Given the description of an element on the screen output the (x, y) to click on. 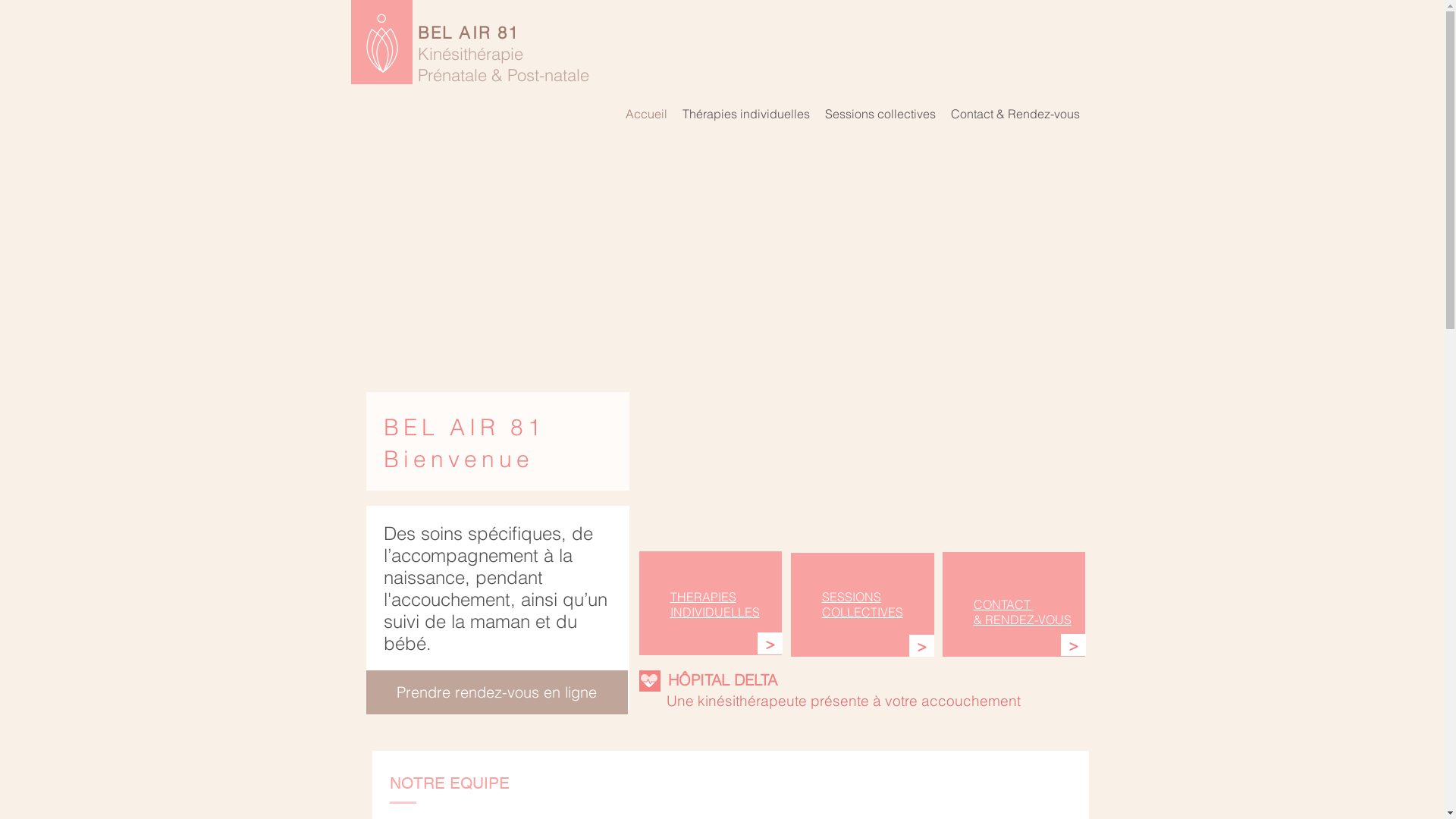
Contact & Rendez-vous Element type: text (1015, 113)
Prendre rendez-vous en ligne Element type: text (496, 692)
> Element type: text (768, 643)
Accueil Element type: text (645, 113)
> Element type: text (920, 645)
Sessions collectives Element type: text (880, 113)
BEL AIR 81 Element type: text (467, 32)
SESSIONS COLLECTIVES Element type: text (862, 604)
> Element type: text (1072, 644)
CONTACT  Element type: text (1003, 603)
THERAPIES INDIVIDUELLES Element type: text (714, 604)
